Given the description of an element on the screen output the (x, y) to click on. 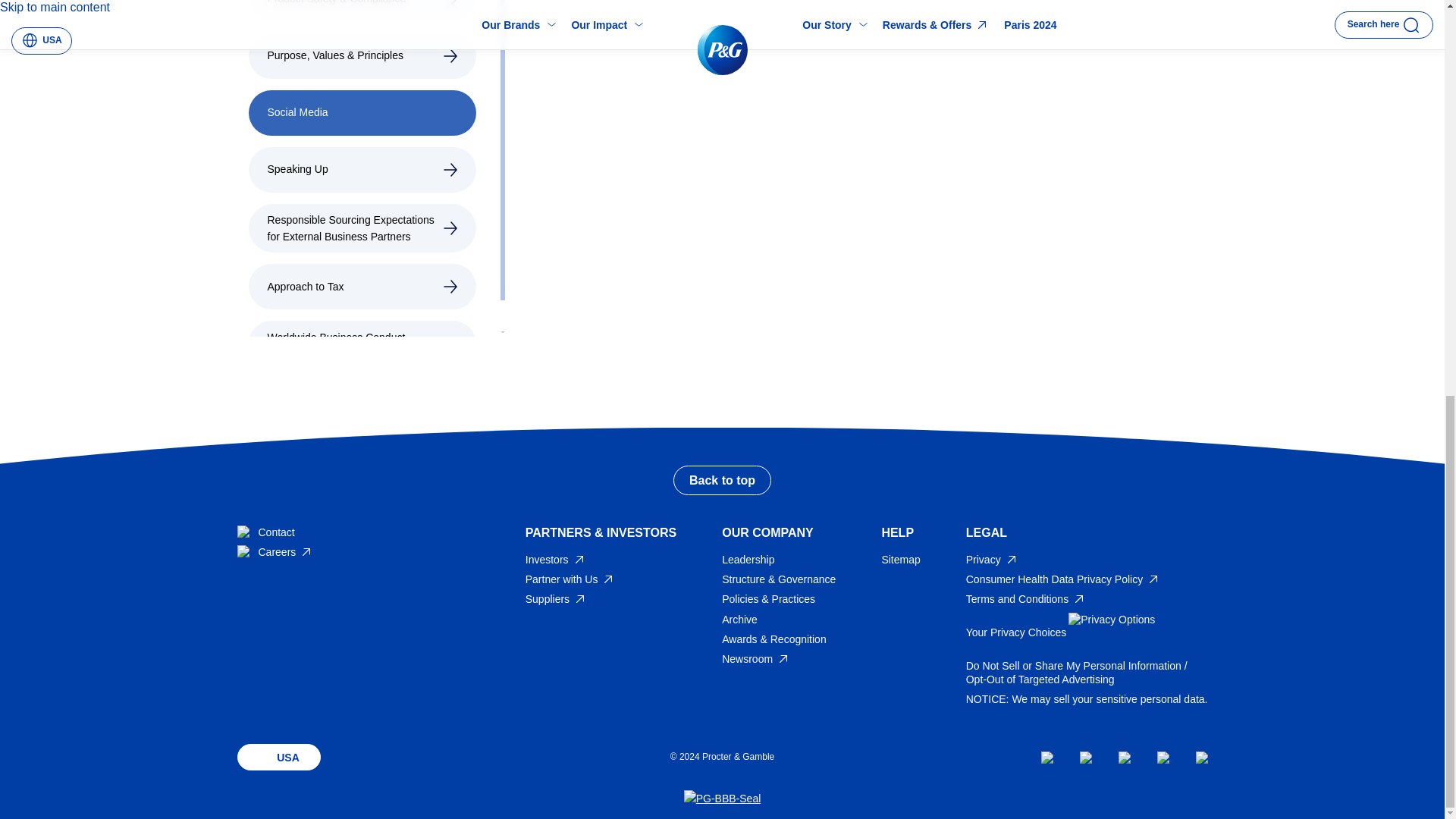
news.pg.com (756, 658)
www.pgconnectdevelop.com (570, 579)
www.pgcareers.com (274, 551)
www.pginvestor.com (555, 559)
